Given the description of an element on the screen output the (x, y) to click on. 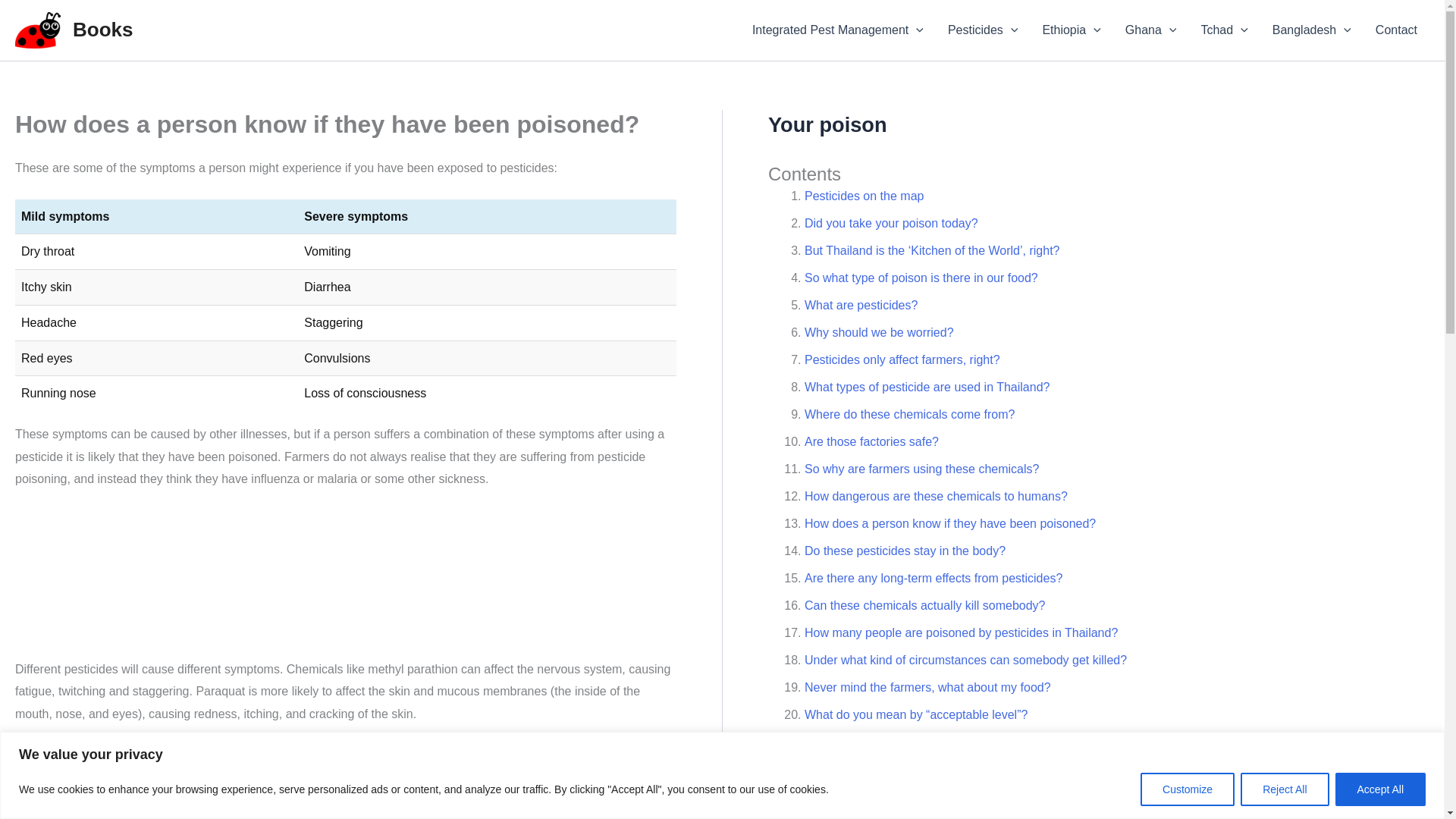
Ghana (1151, 30)
Books (102, 29)
Ethiopia (1070, 30)
Customize (1187, 788)
Reject All (1283, 788)
Pesticides (983, 30)
Integrated Pest Management (837, 30)
Accept All (1380, 788)
Advertisement (344, 584)
